Given the description of an element on the screen output the (x, y) to click on. 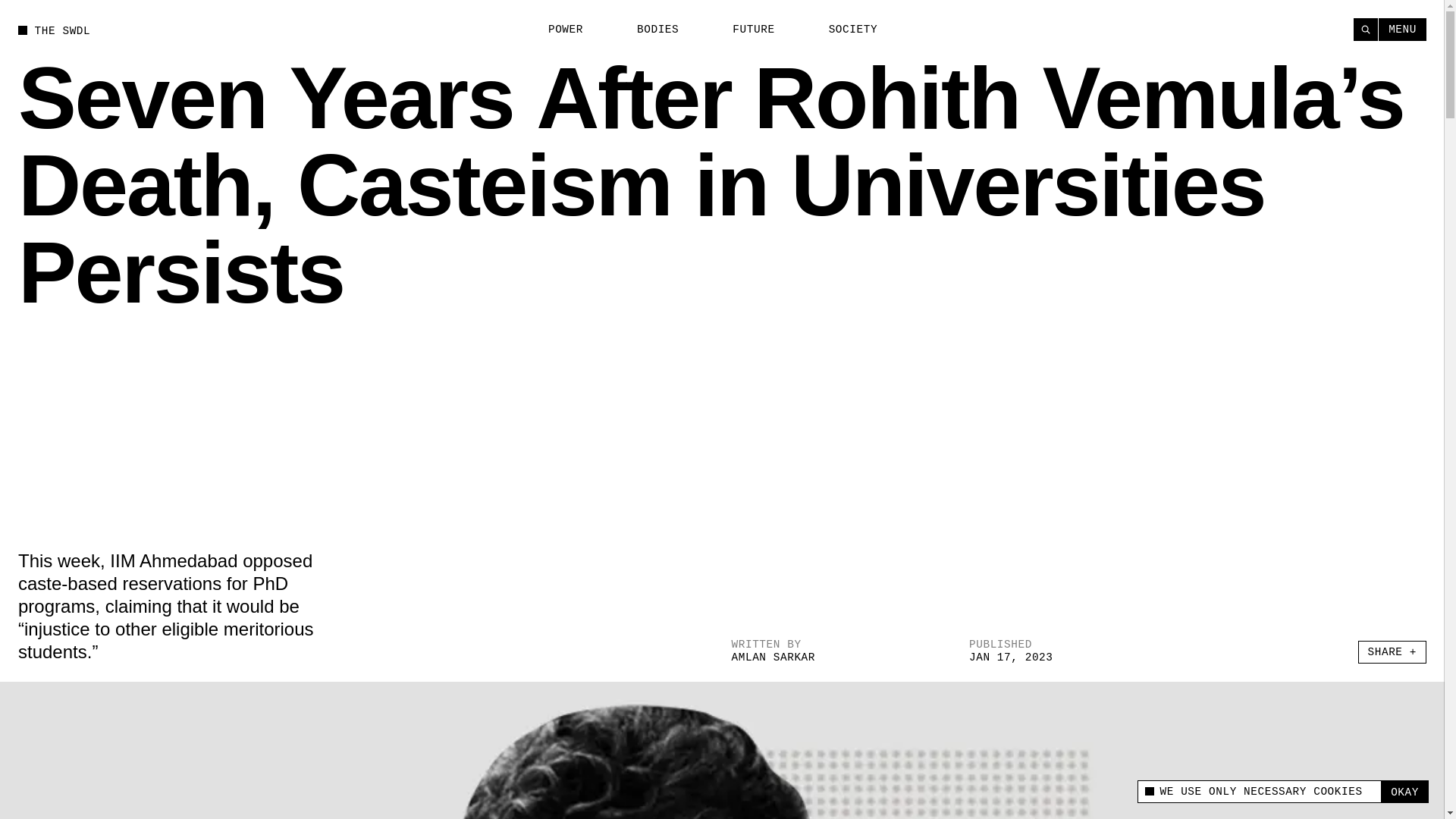
AMLAN SARKAR (772, 657)
FUTURE (744, 29)
BODIES (649, 29)
POWER (557, 29)
MENU (1402, 29)
THE SWDL (53, 29)
WE USE ONLY NECESSARY COOKIES (1259, 791)
OKAY (1404, 791)
SOCIETY (843, 29)
